Given the description of an element on the screen output the (x, y) to click on. 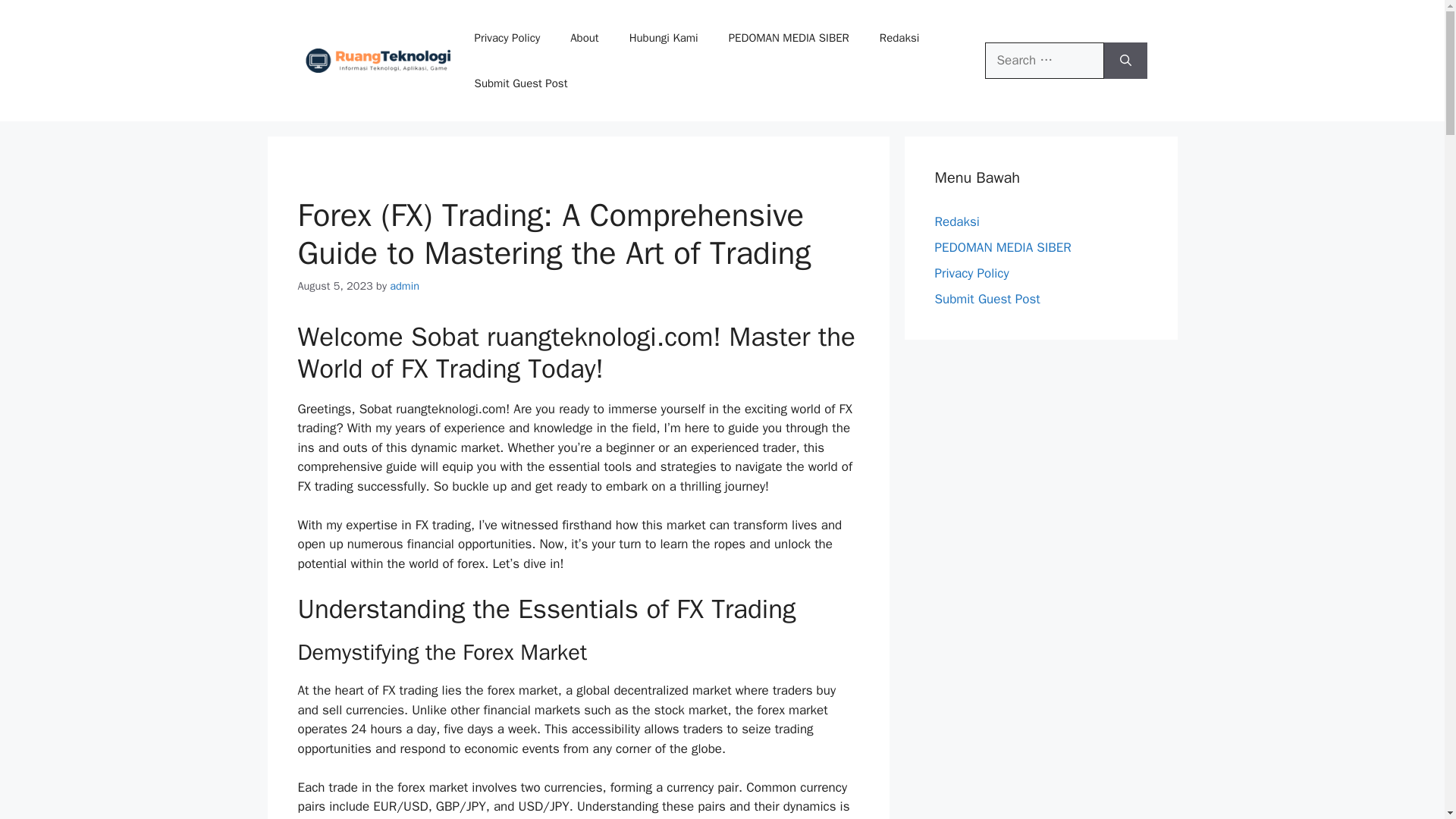
Hubungi Kami (663, 37)
About (583, 37)
admin (404, 285)
Search for: (1044, 60)
Redaksi (899, 37)
Privacy Policy (508, 37)
View all posts by admin (404, 285)
PEDOMAN MEDIA SIBER (788, 37)
Submit Guest Post (521, 83)
